Given the description of an element on the screen output the (x, y) to click on. 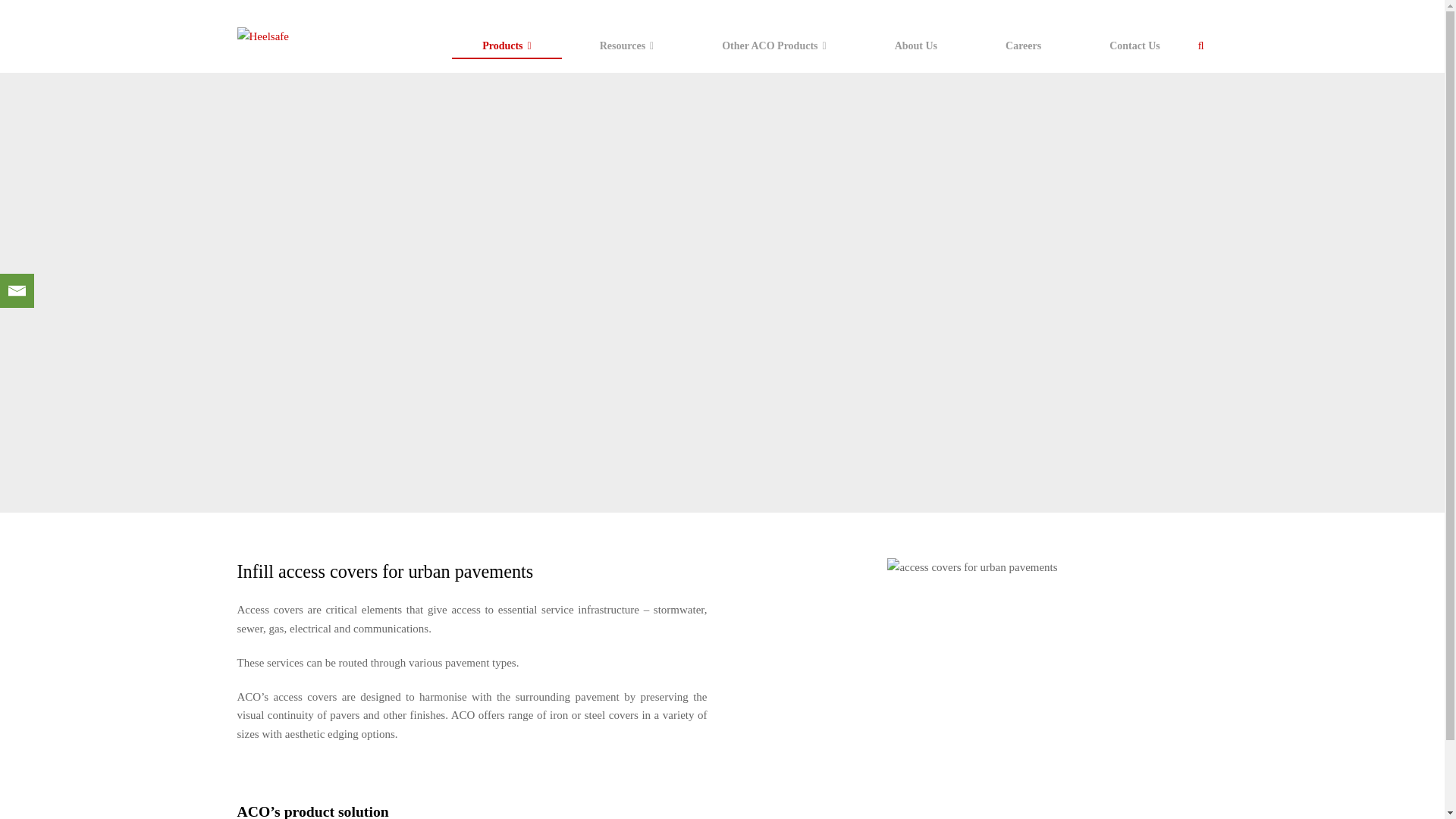
Email (16, 290)
Resources (626, 45)
Products (506, 45)
